Given the description of an element on the screen output the (x, y) to click on. 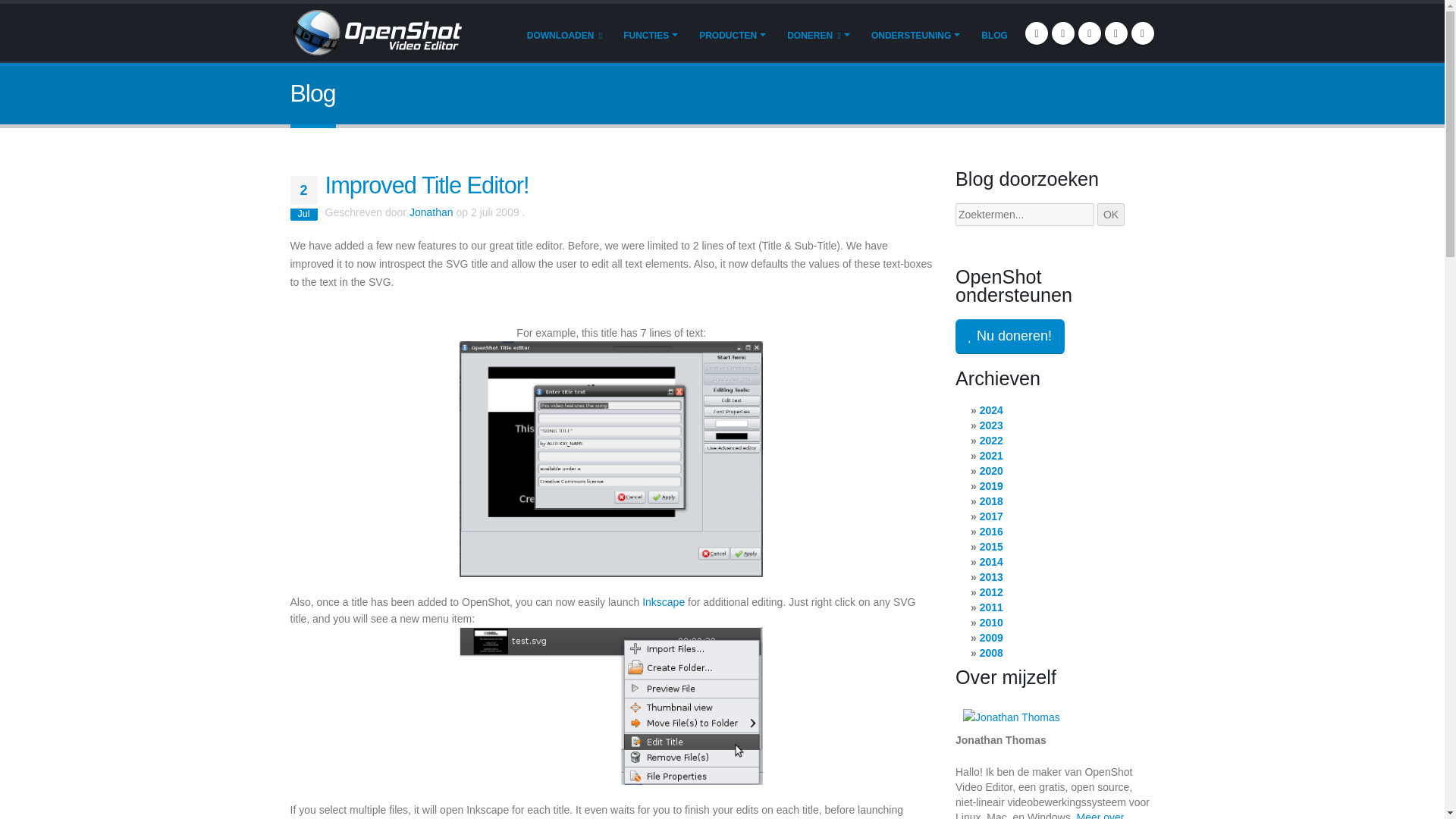
FUNCTIES (649, 34)
OK (1110, 214)
DOWNLOADEN (563, 34)
